Given the description of an element on the screen output the (x, y) to click on. 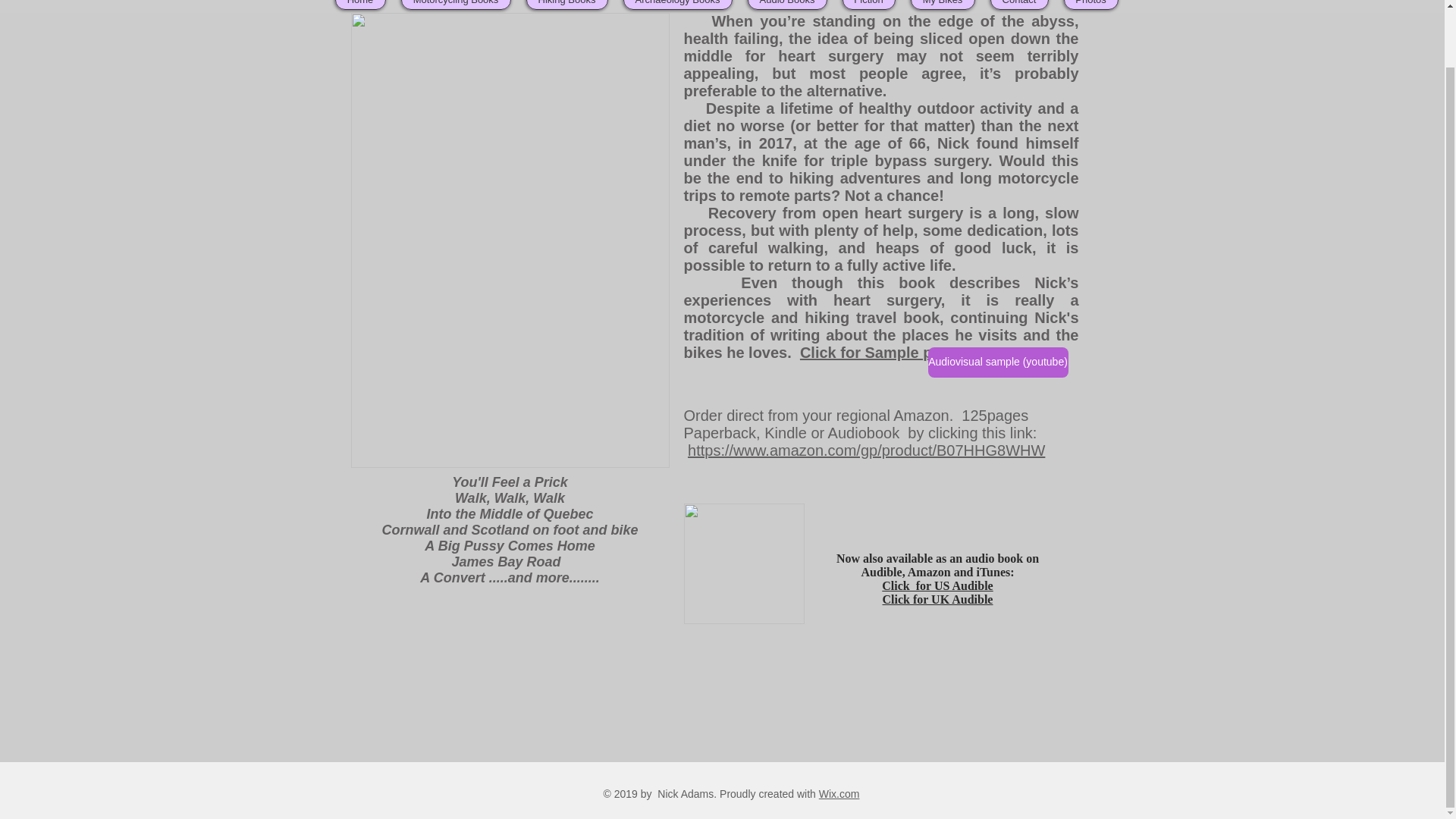
Click for Sample page (878, 352)
Hiking Books (566, 4)
Contact (1019, 4)
Fiction (868, 4)
Click for UK Audible (937, 599)
My Bikes (942, 4)
Home (359, 4)
Click  for US Audible (937, 585)
Archaeology Books (677, 4)
Photos (1090, 4)
